Given the description of an element on the screen output the (x, y) to click on. 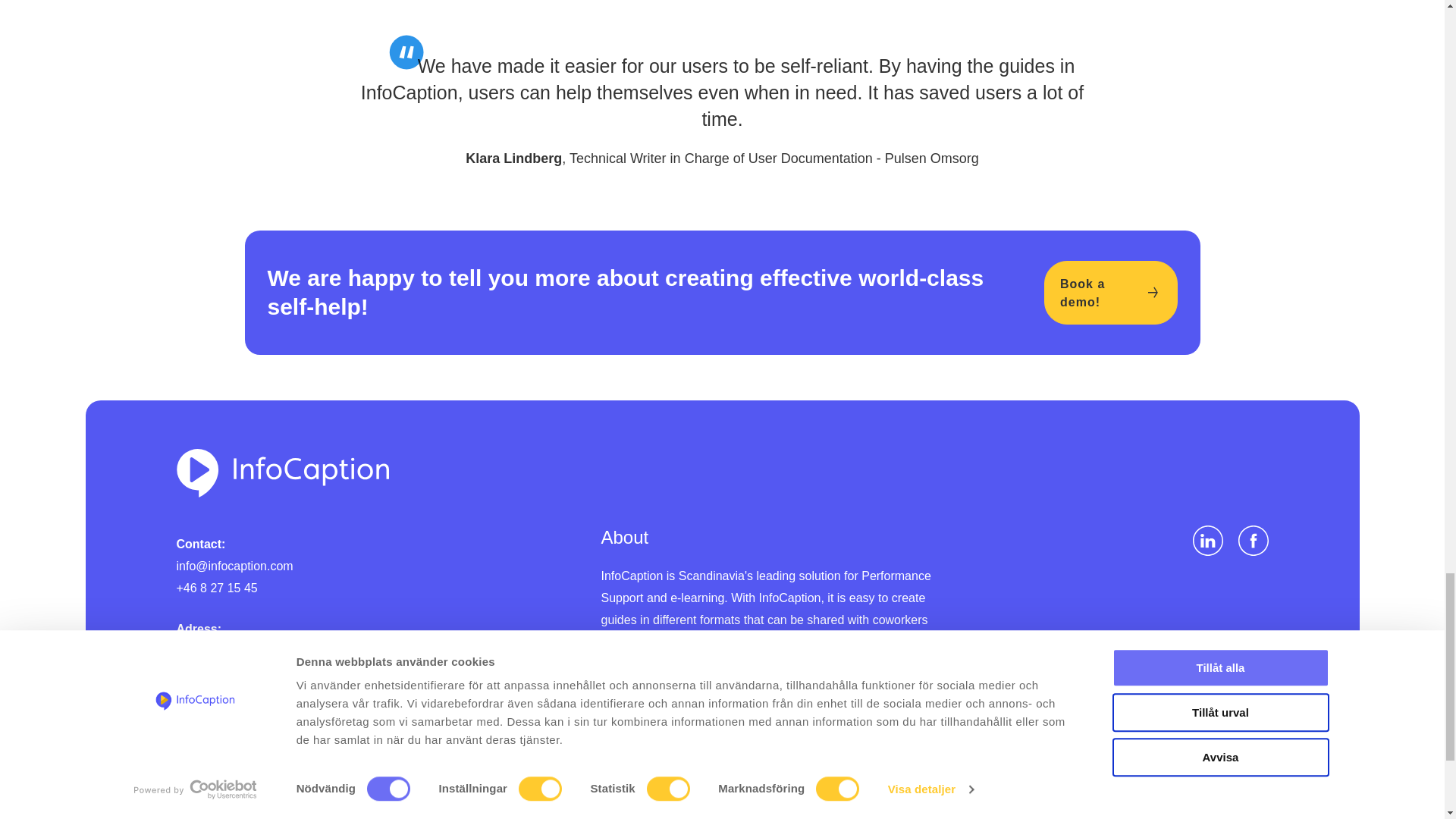
Book a demo! (1110, 292)
